Given the description of an element on the screen output the (x, y) to click on. 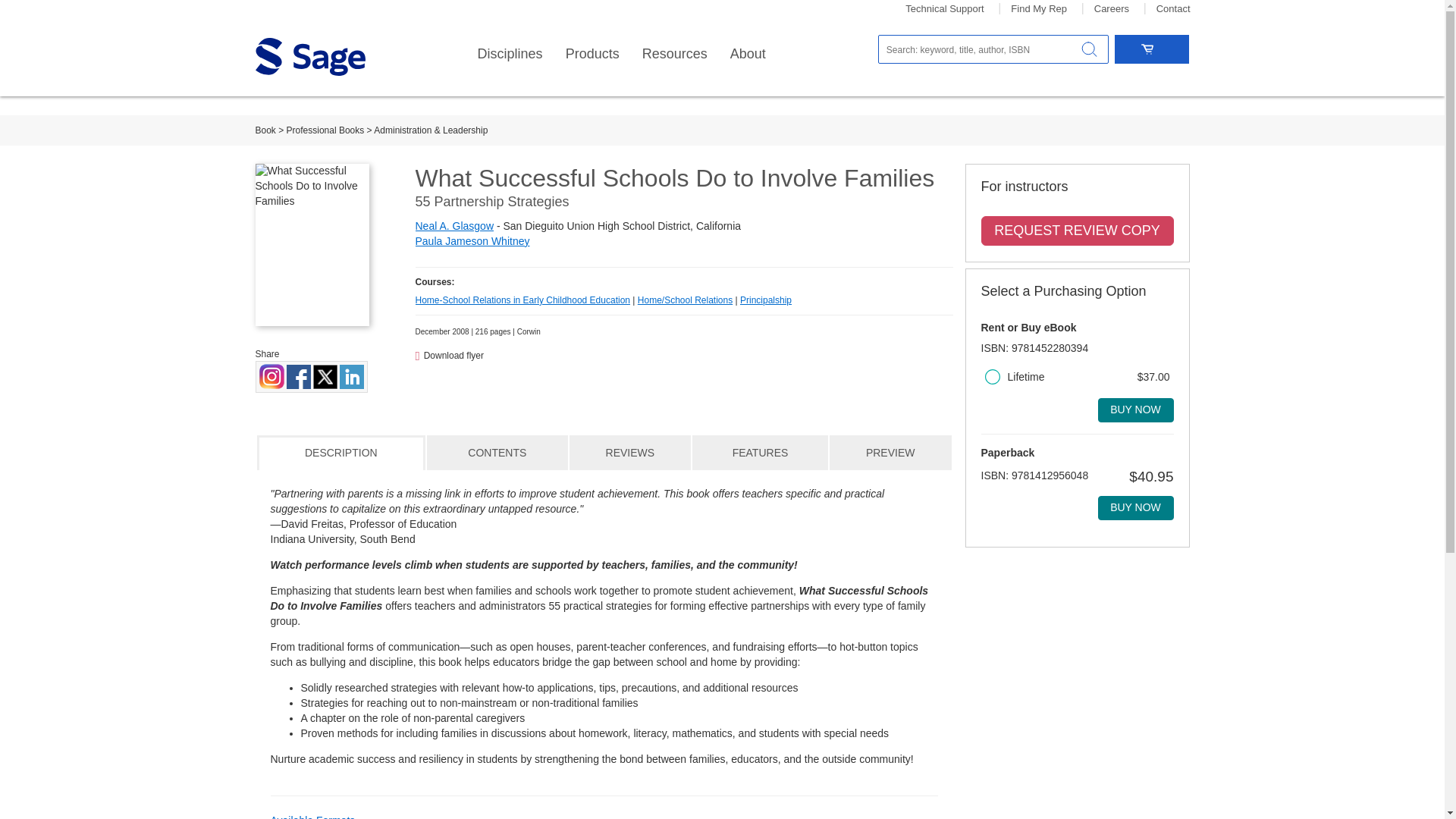
Sage logo: link back to homepage (309, 56)
Contact (1173, 8)
Technical Support (944, 8)
Buy now (1135, 410)
Disciplines (509, 53)
Careers (1111, 8)
Buy now (1135, 508)
29 (991, 376)
Search (1089, 48)
Find My Rep (1038, 8)
Request review copy (1077, 231)
